Given the description of an element on the screen output the (x, y) to click on. 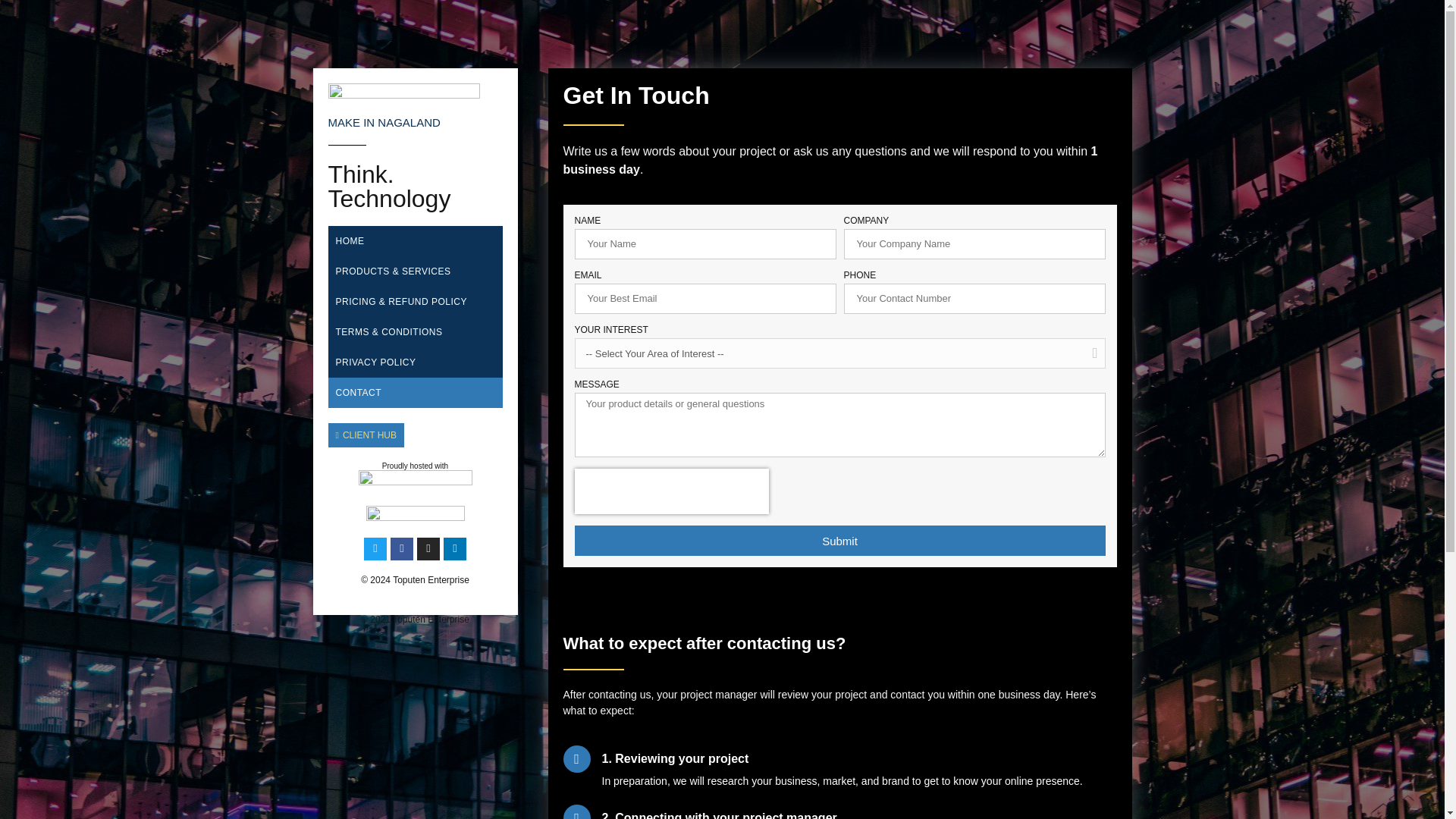
CLIENT HUB (365, 435)
CONTACT (414, 392)
PRIVACY POLICY (414, 362)
Proudly hosted with (414, 465)
reCAPTCHA (671, 491)
HOME (414, 241)
